Given the description of an element on the screen output the (x, y) to click on. 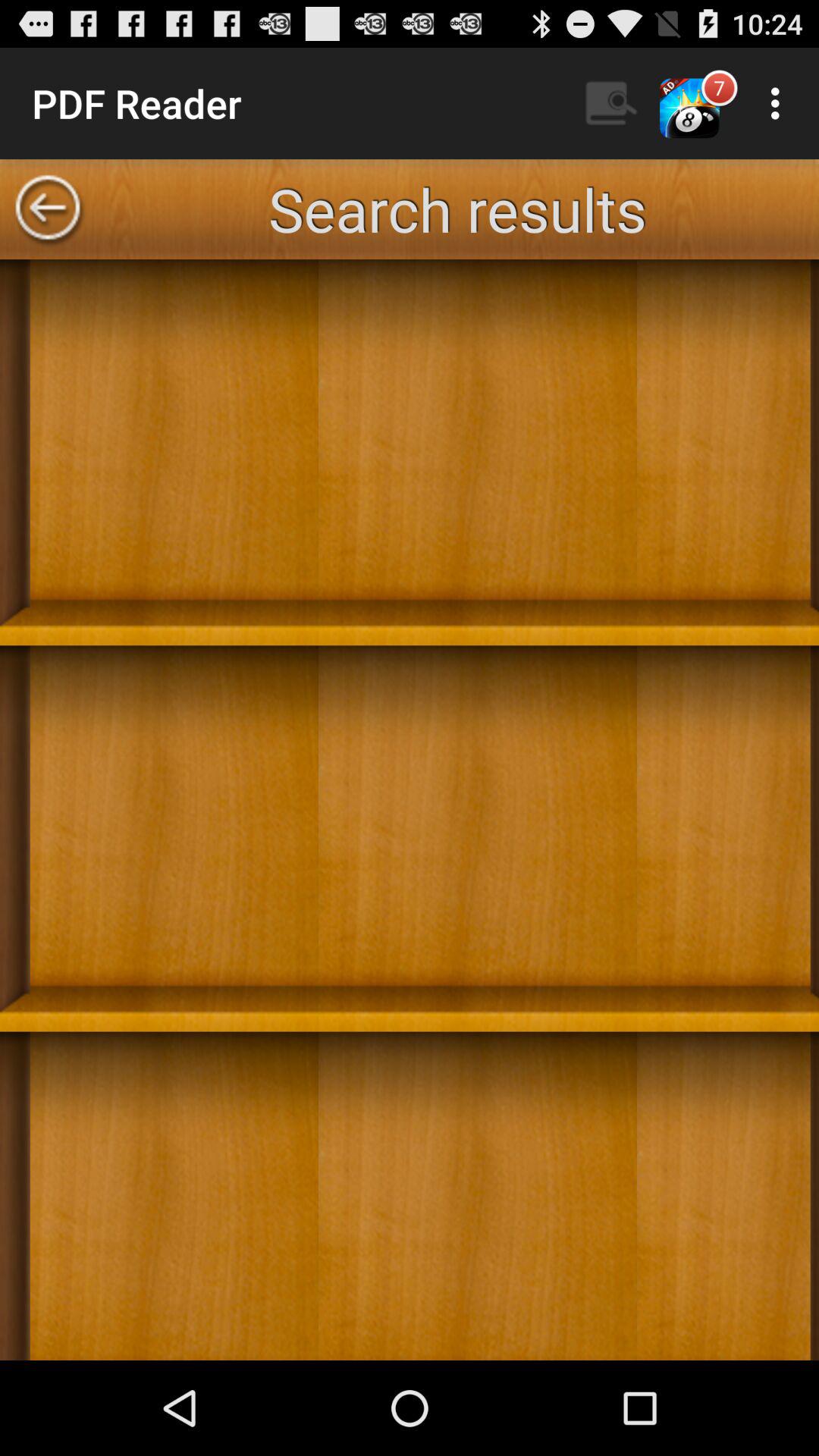
jump to search results icon (457, 209)
